Given the description of an element on the screen output the (x, y) to click on. 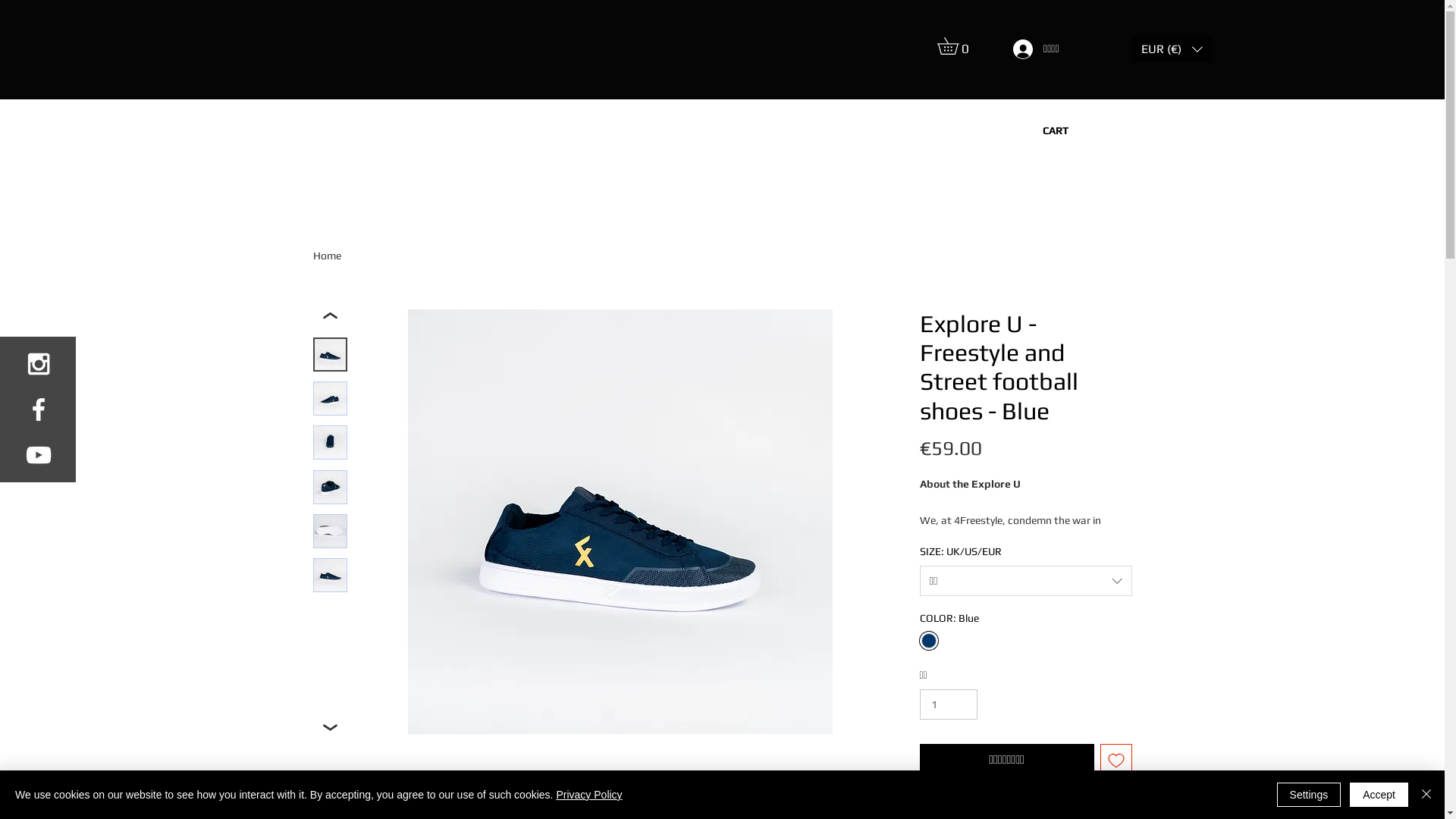
Privacy Policy Element type: text (588, 794)
Settings Element type: text (1309, 794)
Accept Element type: text (1378, 794)
0 Element type: text (956, 45)
Home Element type: text (326, 255)
CART Element type: text (1055, 131)
